Given the description of an element on the screen output the (x, y) to click on. 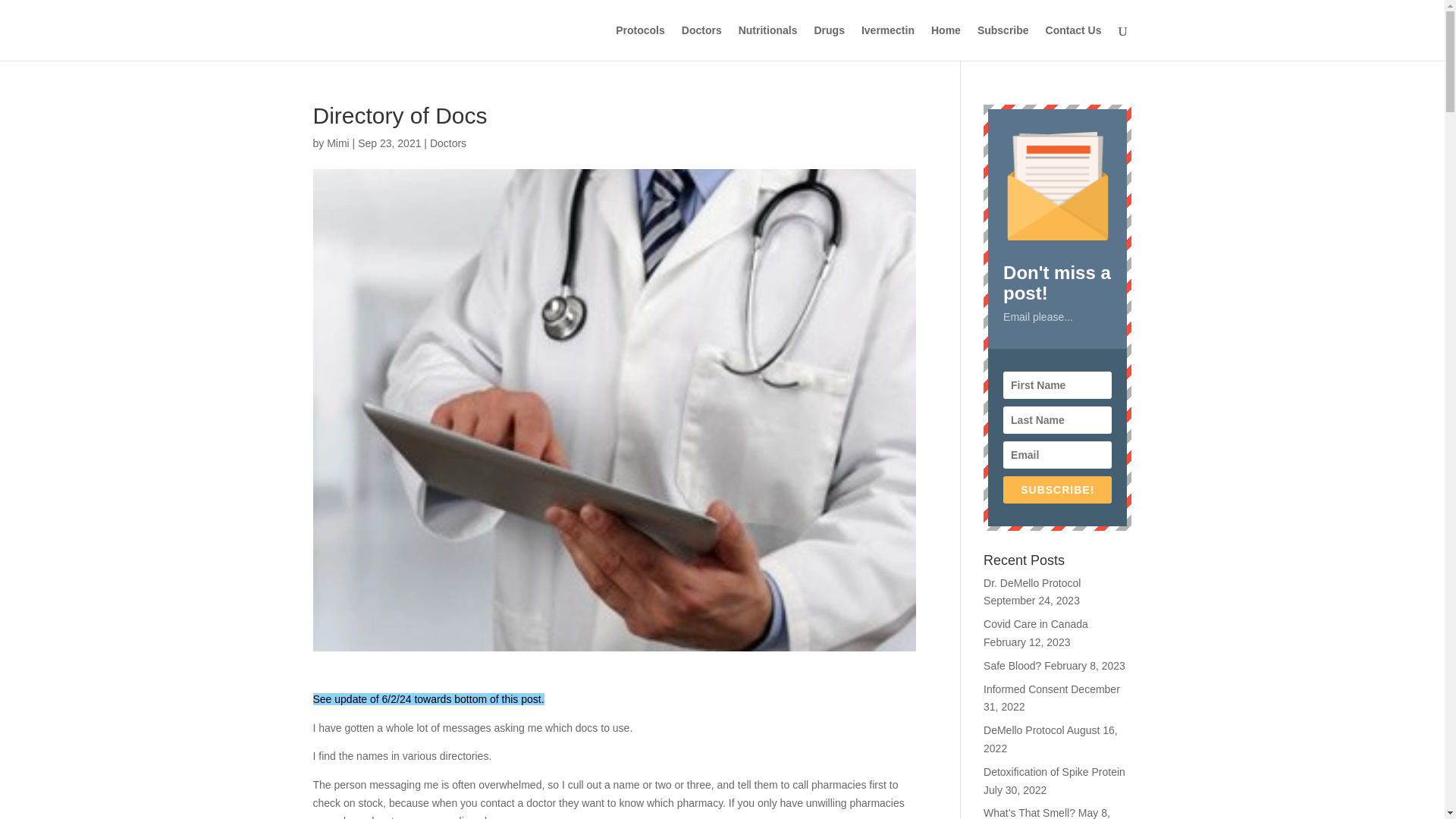
Doctors (447, 143)
Nutritionals (767, 42)
Subscribe (1002, 42)
Posts by Mimi (337, 143)
Protocols (640, 42)
Ivermectin (887, 42)
Contact Us (1073, 42)
Mimi (337, 143)
Doctors (701, 42)
